Given the description of an element on the screen output the (x, y) to click on. 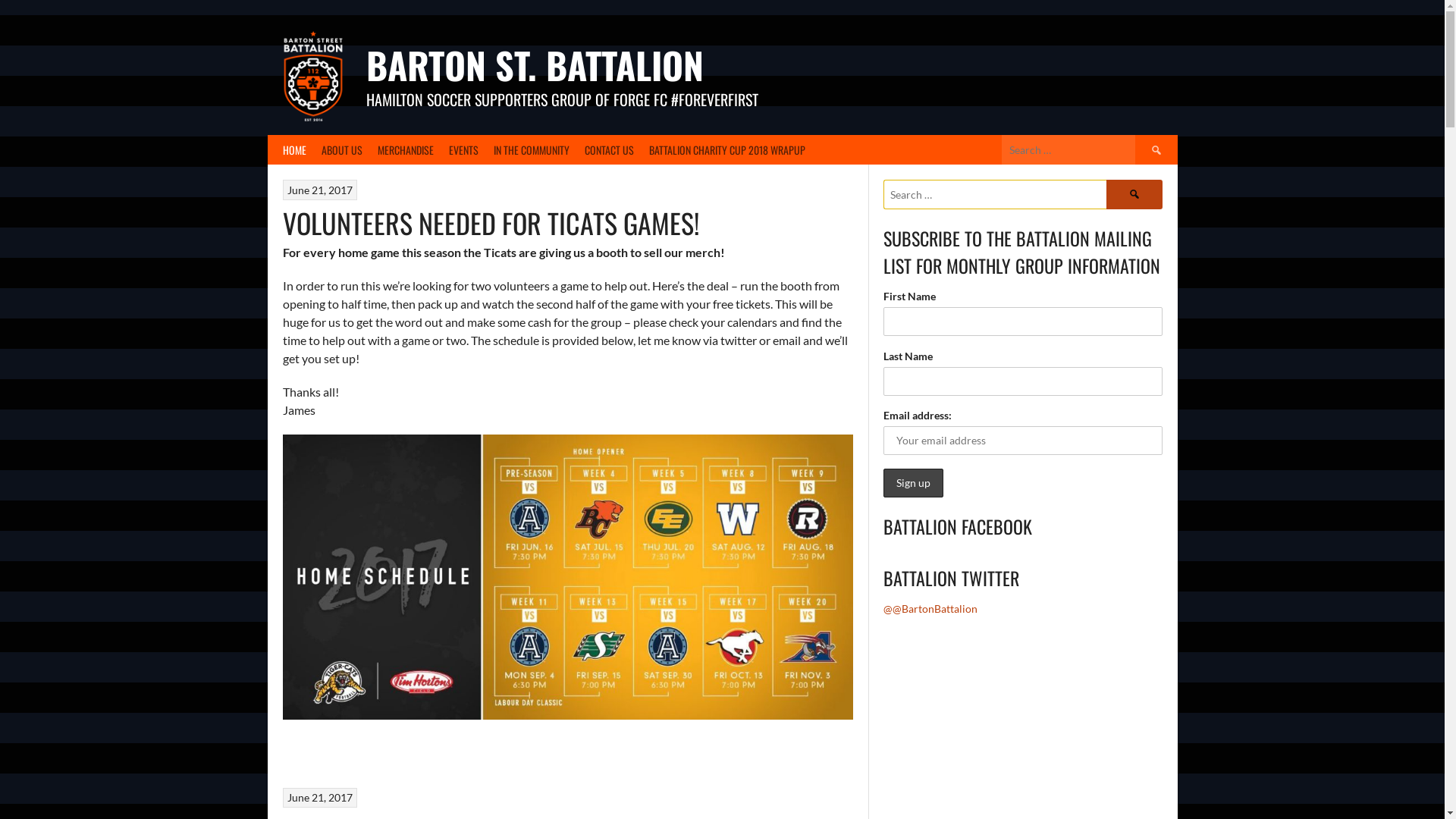
MERCHANDISE Element type: text (405, 149)
CONTACT US Element type: text (608, 149)
Sign up Element type: text (912, 482)
@@BartonBattalion Element type: text (929, 608)
VOLUNTEERS NEEDED FOR TICATS GAMES! Element type: text (490, 221)
Search Element type: hover (1134, 194)
EVENTS Element type: text (463, 149)
Search Element type: hover (1155, 149)
ABOUT US Element type: text (341, 149)
BARTON ST. BATTALION Element type: text (533, 64)
HOME Element type: text (293, 149)
BATTALION CHARITY CUP 2018 WRAPUP Element type: text (726, 149)
June 21, 2017 Element type: text (319, 189)
June 21, 2017 Element type: text (319, 796)
IN THE COMMUNITY Element type: text (530, 149)
